Given the description of an element on the screen output the (x, y) to click on. 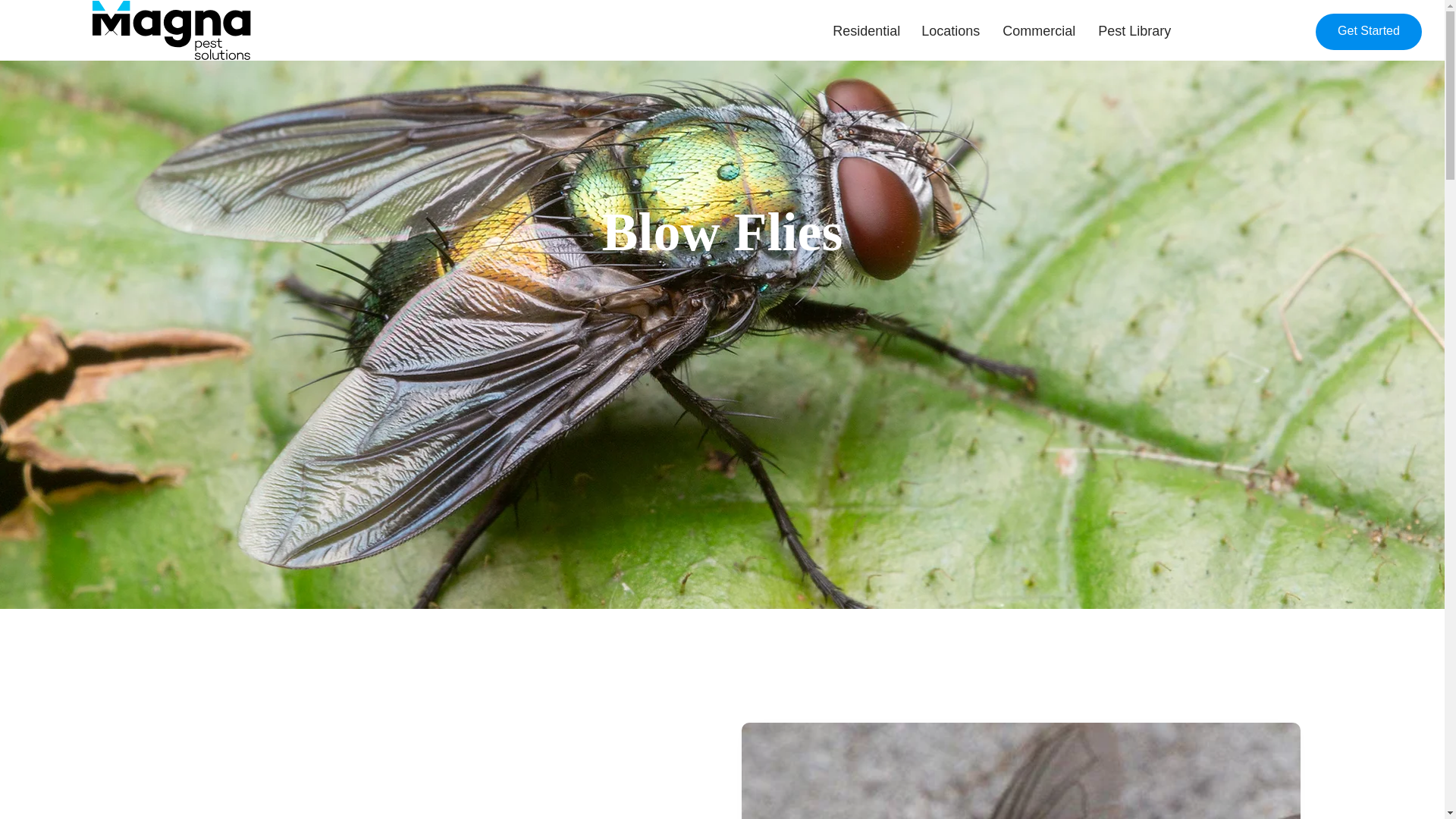
Get Started (1369, 31)
Residential (865, 31)
Pest Library (1132, 31)
Locations (950, 31)
